Given the description of an element on the screen output the (x, y) to click on. 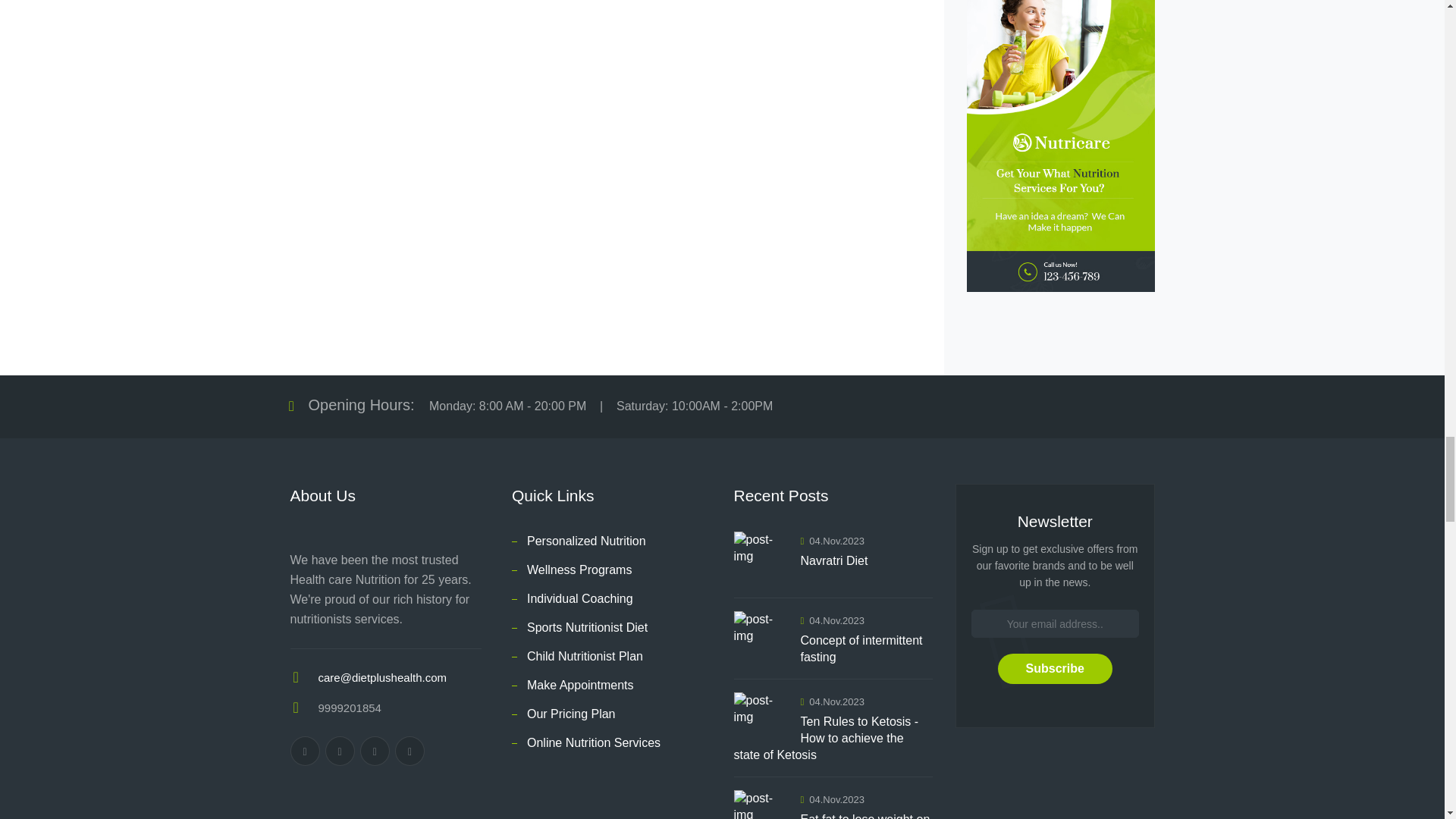
Subscribe (1054, 668)
